Given the description of an element on the screen output the (x, y) to click on. 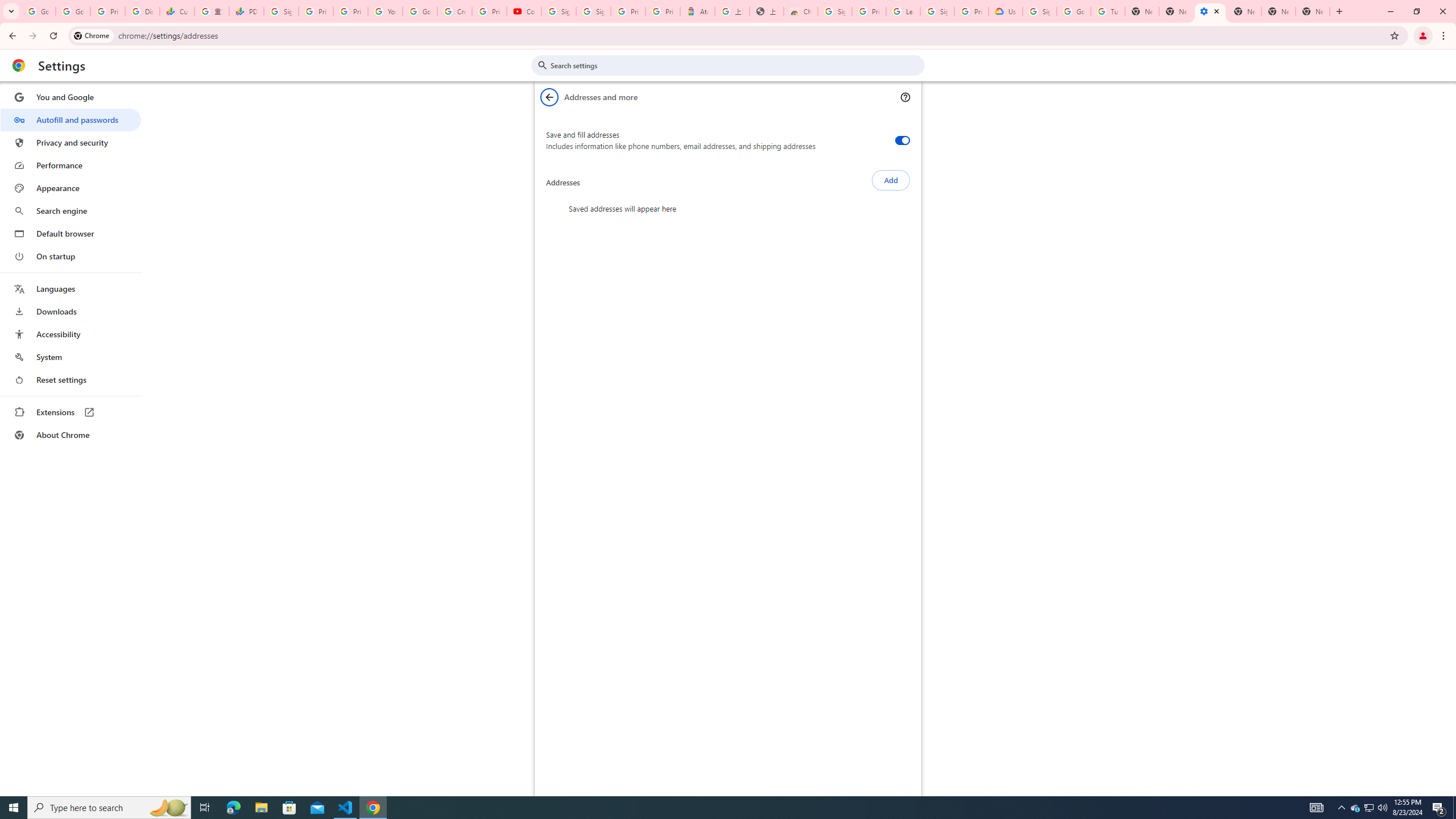
YouTube (384, 11)
Privacy Checkup (349, 11)
Performance (70, 164)
New Tab (1243, 11)
Create your Google Account (454, 11)
Accessibility (70, 333)
Autofill and passwords (70, 119)
Google Account Help (419, 11)
Downloads (70, 311)
Turn cookies on or off - Computer - Google Account Help (1107, 11)
AutomationID: menu (71, 265)
